Given the description of an element on the screen output the (x, y) to click on. 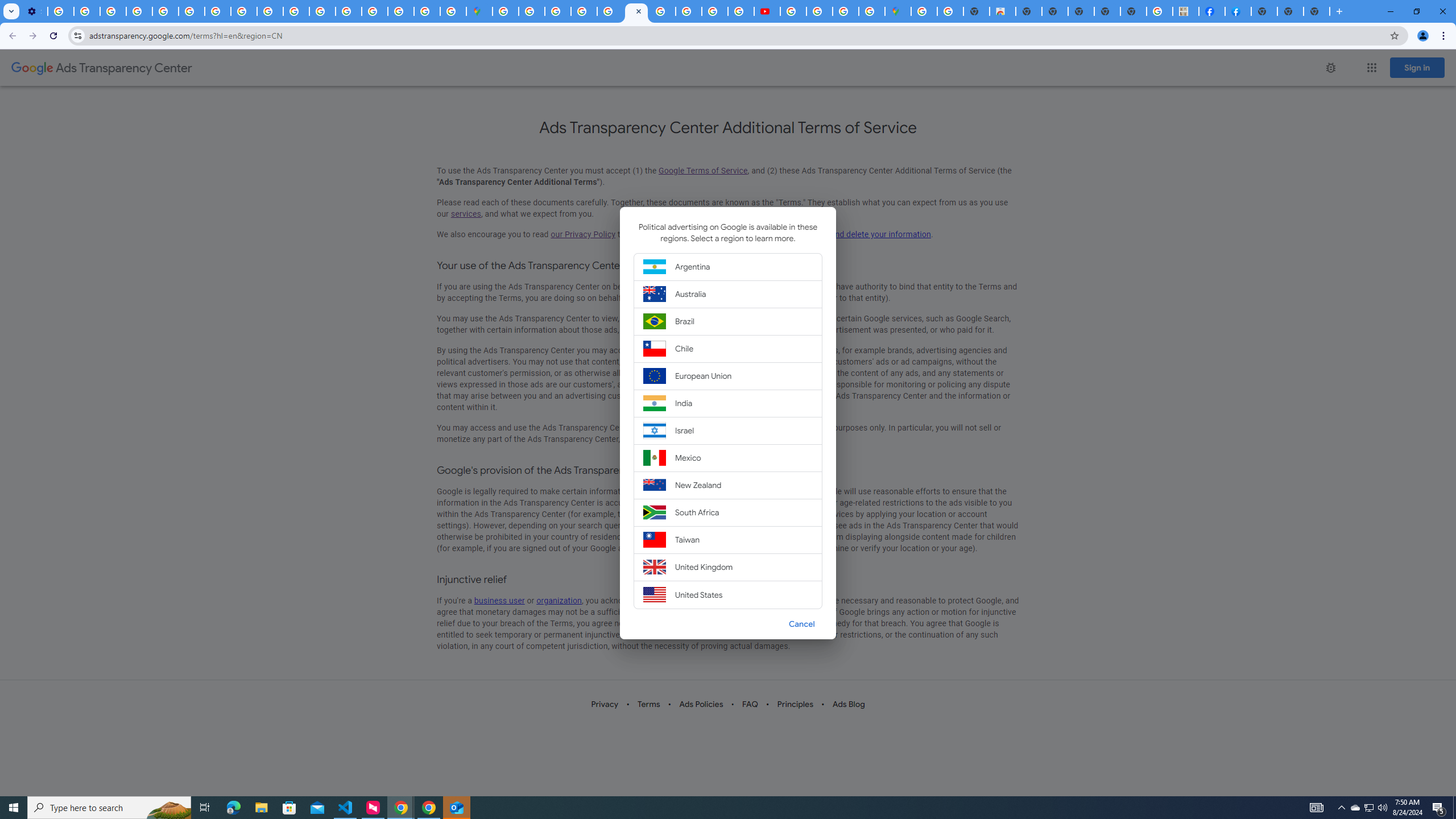
MILEY CYRUS. (1185, 11)
Sign in - Google Accounts (531, 11)
Terms and Conditions (610, 11)
Terms and Conditions (636, 11)
Cancel (801, 623)
Privacy Help Center - Policies Help (689, 11)
New Zealand (727, 485)
Privacy Help Center - Policies Help (243, 11)
